Given the description of an element on the screen output the (x, y) to click on. 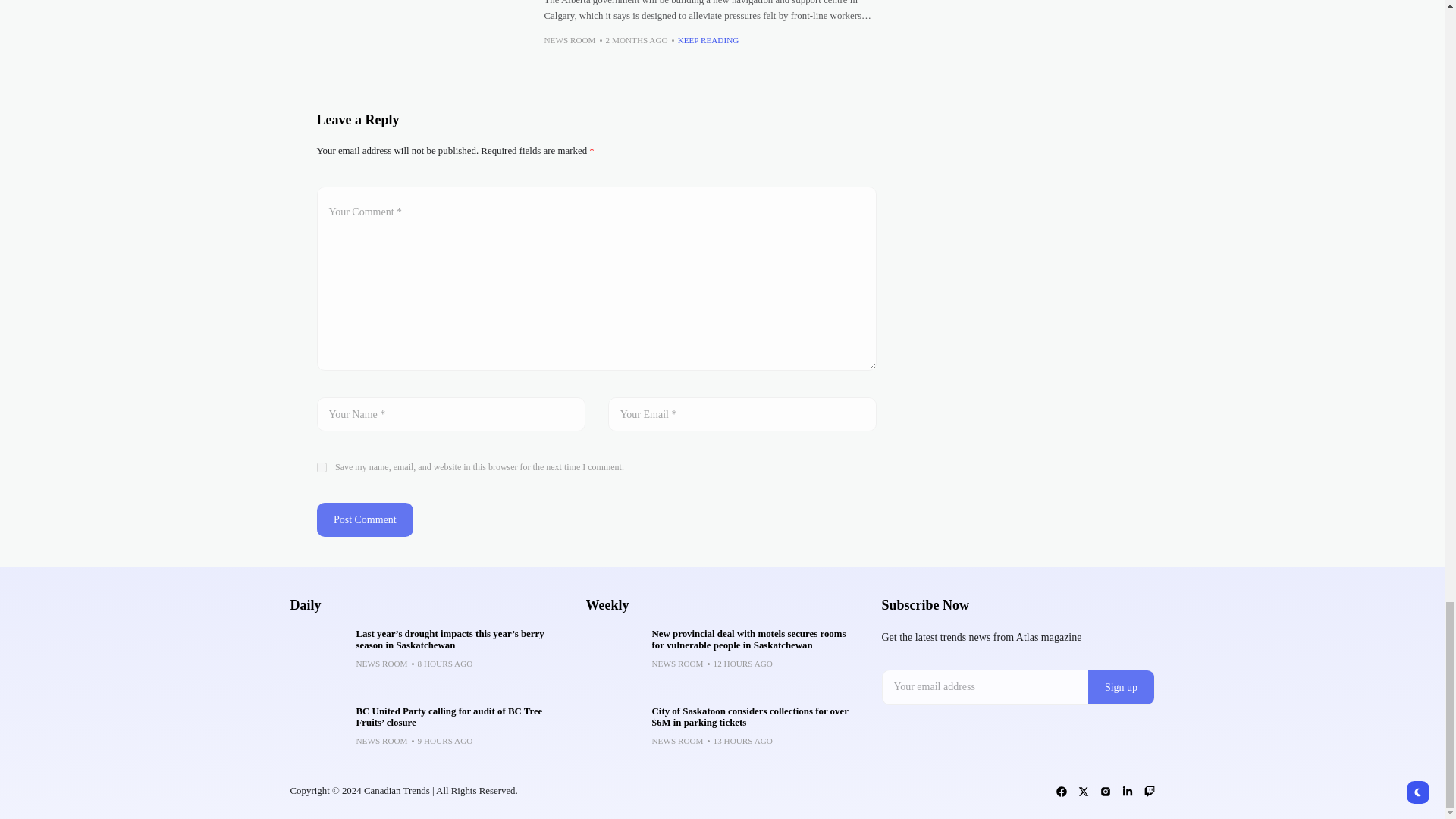
Sign up (1120, 687)
Post Comment (365, 519)
yes (321, 467)
